Given the description of an element on the screen output the (x, y) to click on. 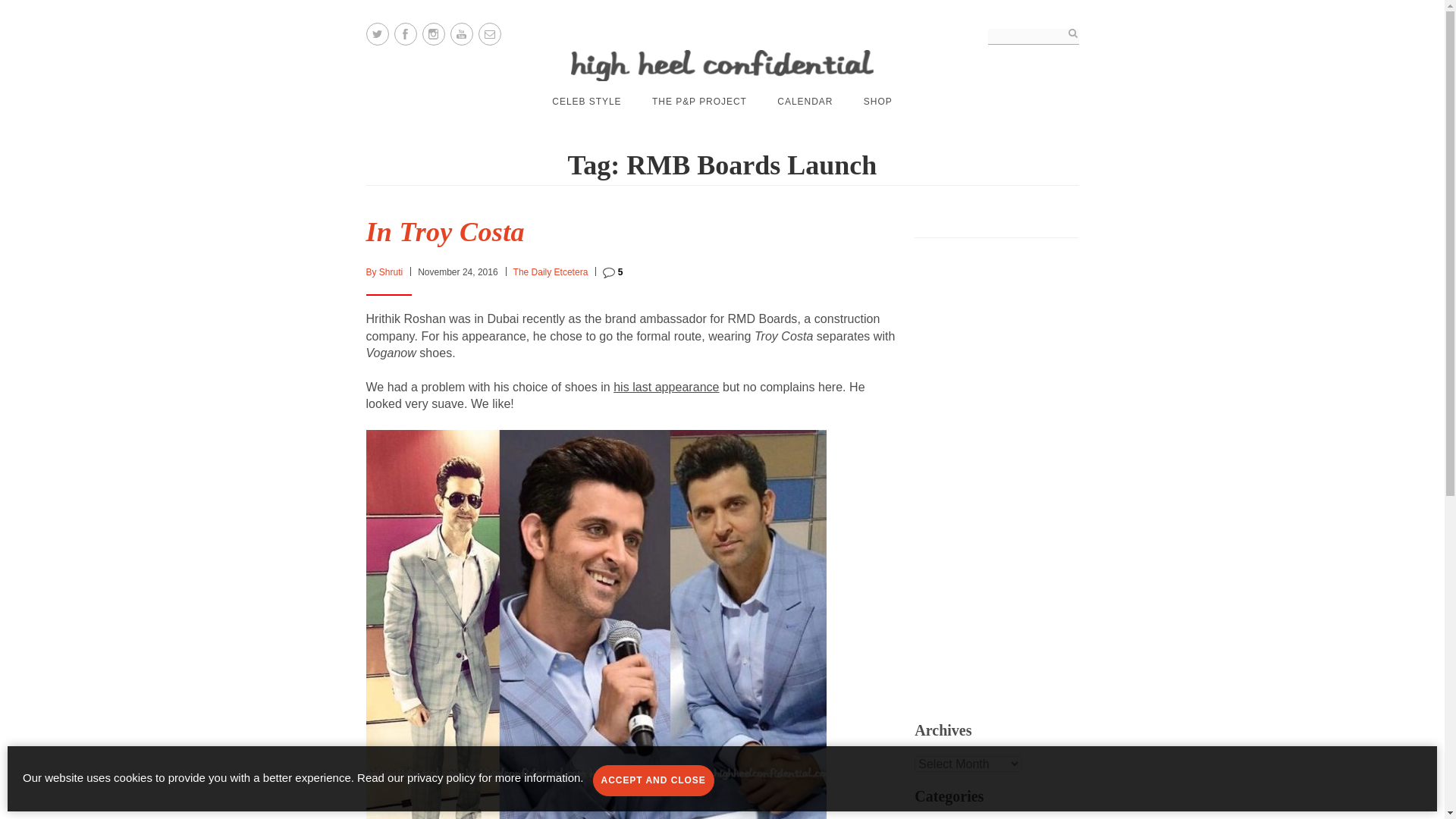
5 (612, 271)
By Shruti (384, 271)
ACCEPT AND CLOSE (653, 780)
CELEB STYLE (586, 101)
CALENDAR (804, 101)
his last appearance (665, 387)
SHOP (877, 101)
High Heel Confidential (721, 65)
In Troy Costa (444, 232)
The Daily Etcetera (550, 271)
